Given the description of an element on the screen output the (x, y) to click on. 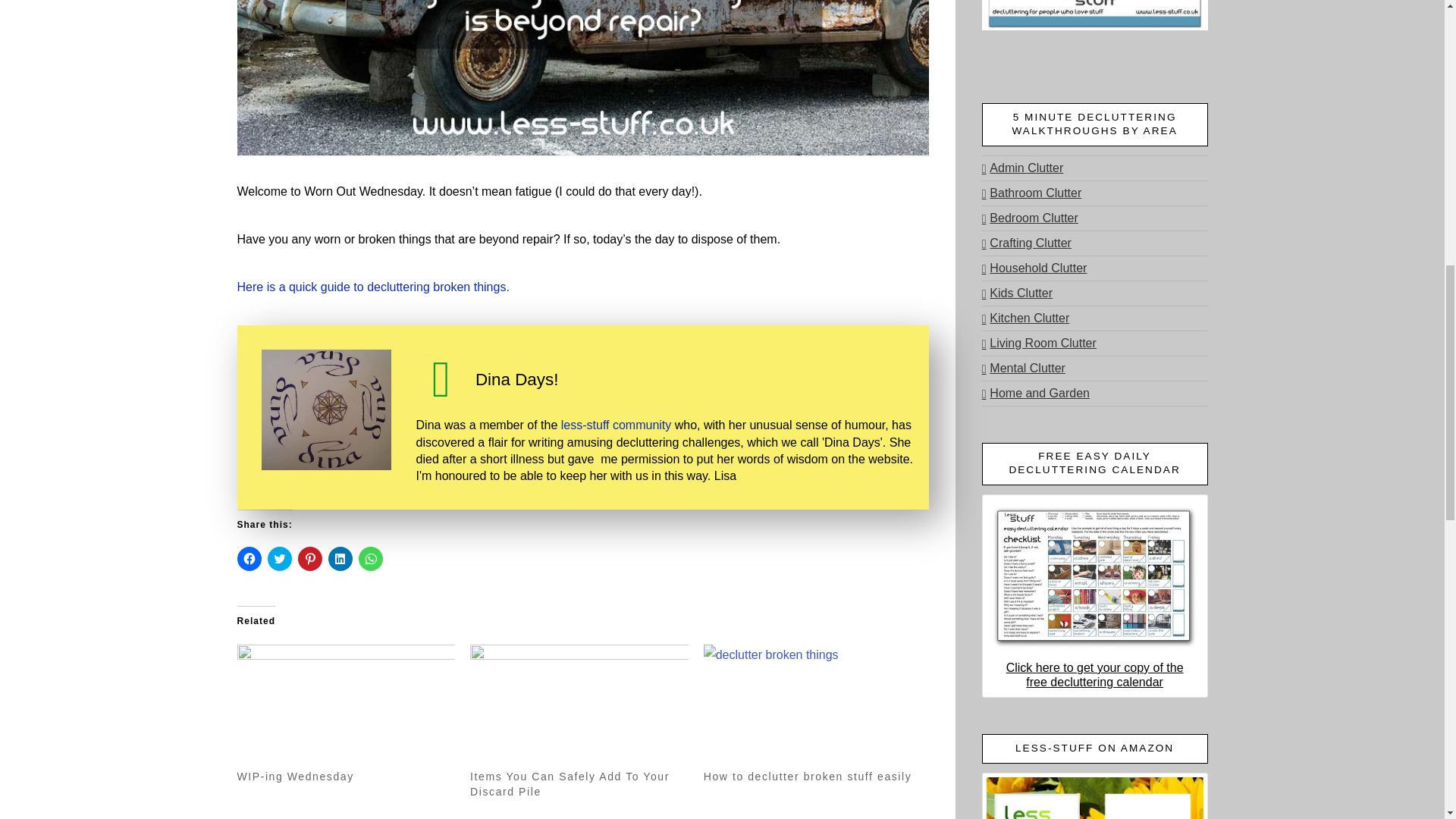
Click to share on WhatsApp (369, 558)
Click to share on Pinterest (309, 558)
Items You Can Safely Add To Your Discard Pile (569, 783)
Click to share on Twitter (278, 558)
How to declutter broken stuff easily (807, 776)
Here is a quick guide to decluttering broken things. (371, 286)
less-stuff community (615, 424)
Click to share on Facebook (247, 558)
WIP-ing Wednesday (294, 776)
How to declutter broken stuff easily (812, 706)
Click to share on LinkedIn (339, 558)
Items You Can Safely Add To Your Discard Pile (579, 706)
WIP-ing Wednesday (344, 706)
